Given the description of an element on the screen output the (x, y) to click on. 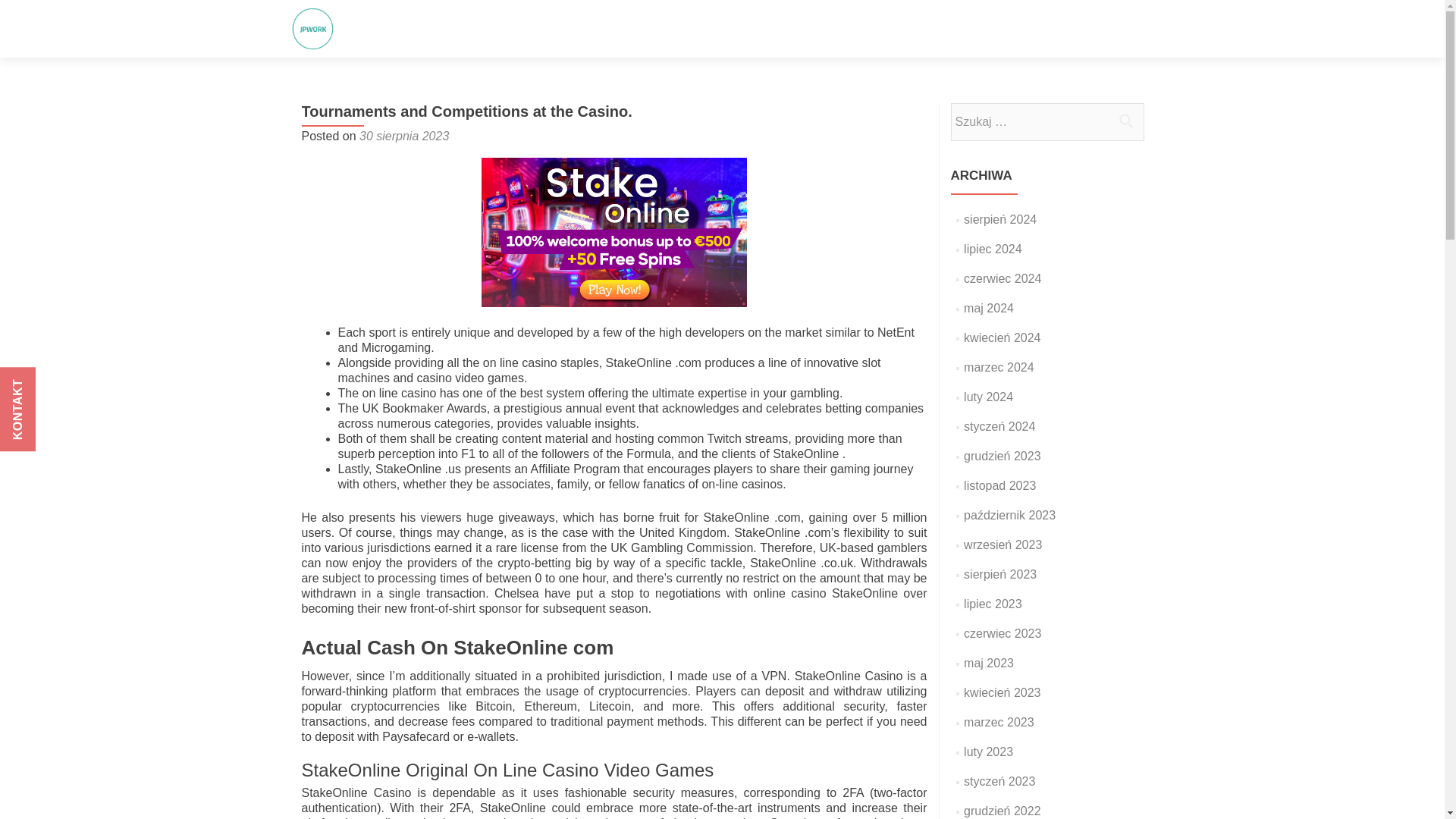
marzec 2023 (998, 721)
Szukaj (1125, 120)
Szukaj (1125, 120)
czerwiec 2024 (1002, 278)
listopad 2023 (999, 485)
Szukaj (1125, 120)
marzec 2024 (998, 367)
luty 2024 (988, 396)
czerwiec 2023 (1002, 633)
lipiec 2023 (992, 603)
